Given the description of an element on the screen output the (x, y) to click on. 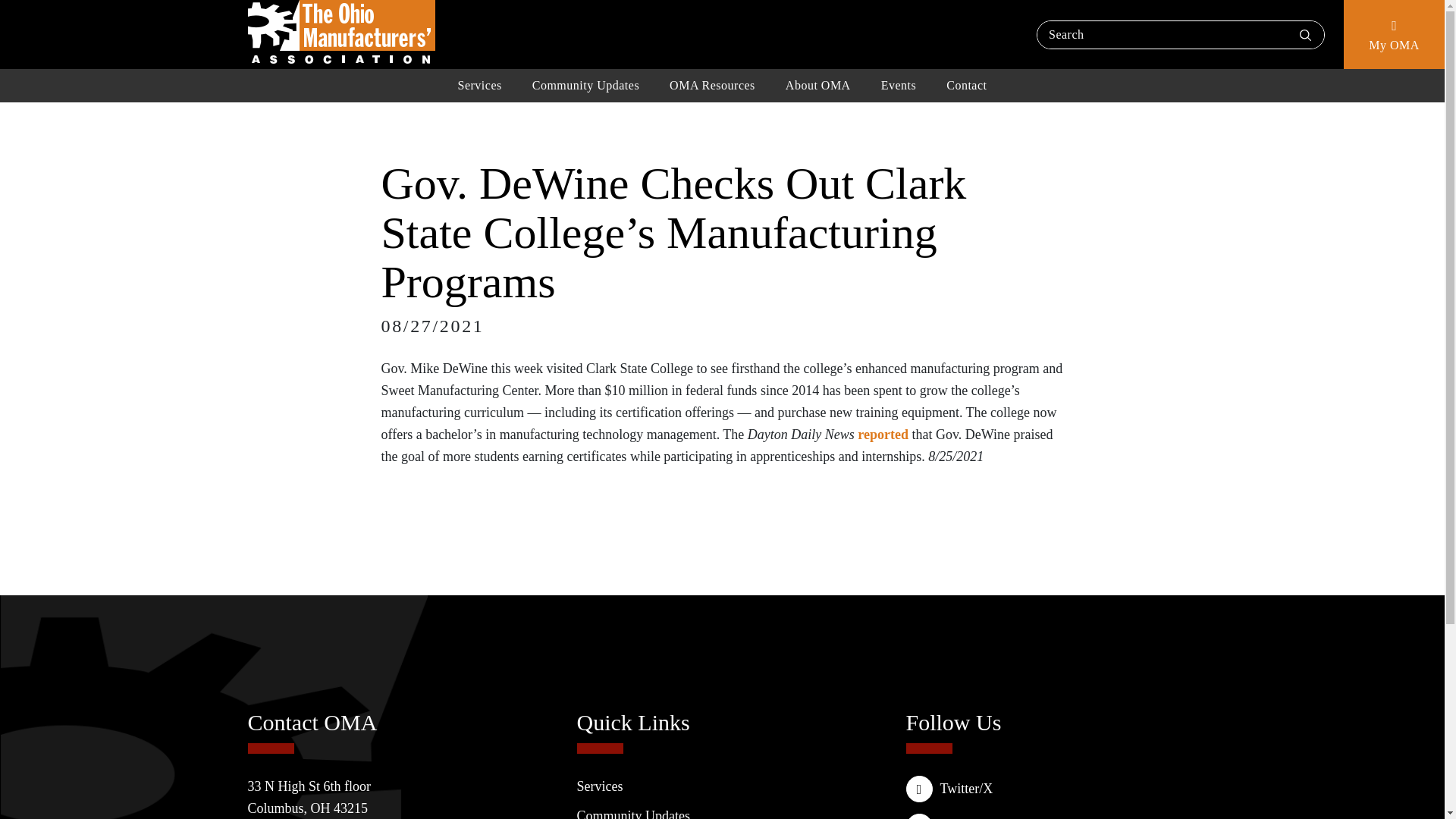
Events (898, 85)
OMA Resources (711, 85)
reported (882, 434)
The Ohio Manufacturers' Association (340, 32)
Services (479, 85)
Community Updates (584, 85)
About OMA (818, 85)
Contact (966, 85)
View on Google Maps (309, 796)
Facebook (1050, 816)
